Given the description of an element on the screen output the (x, y) to click on. 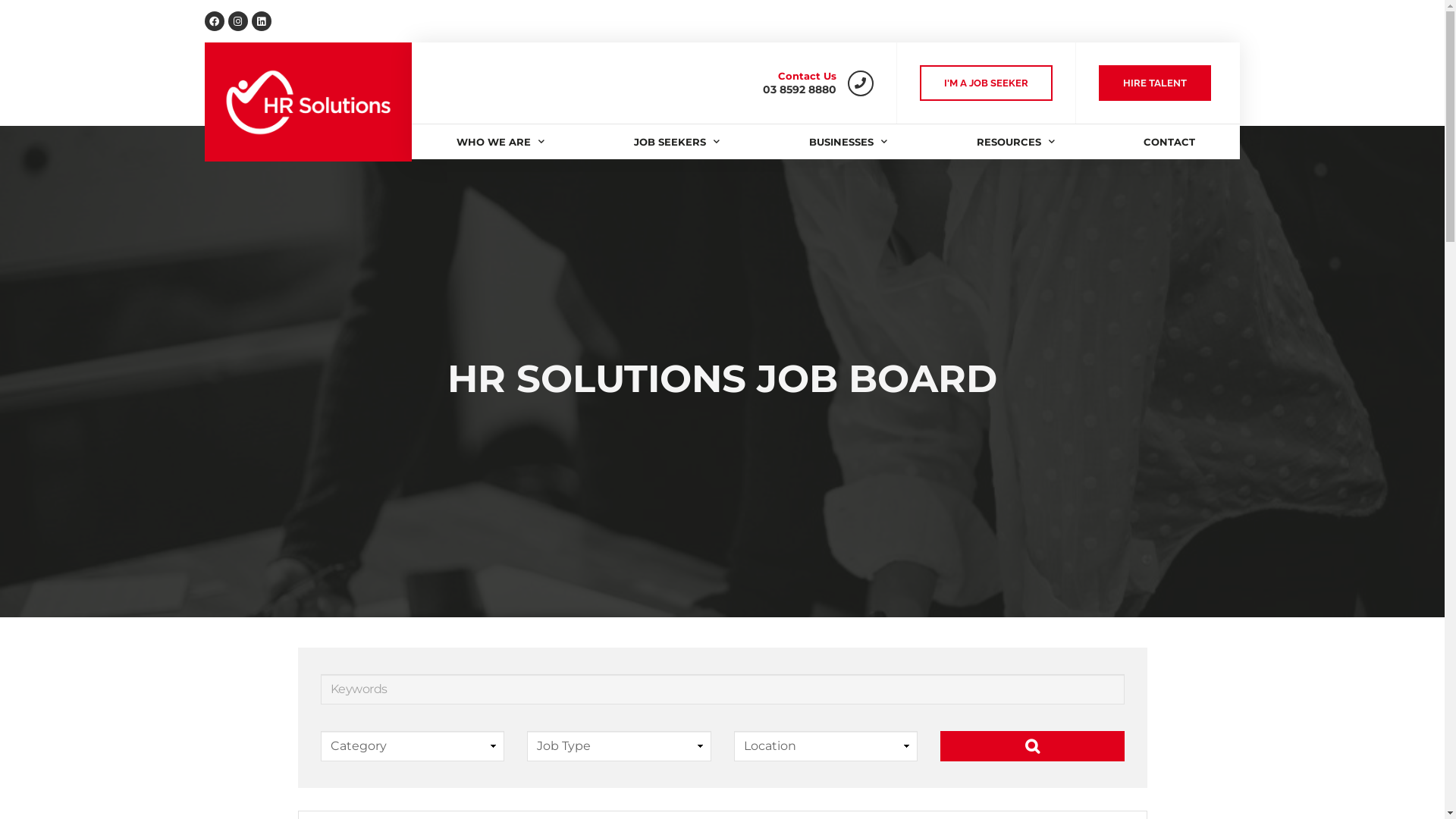
I'M A JOB SEEKER Element type: text (985, 82)
WHO WE ARE Element type: text (500, 141)
HIRE TALENT Element type: text (1154, 82)
CONTACT Element type: text (1169, 141)
JOB SEEKERS Element type: text (676, 141)
RESOURCES Element type: text (1015, 141)
BUSINESSES Element type: text (847, 141)
Contact Us Element type: text (807, 75)
